Given the description of an element on the screen output the (x, y) to click on. 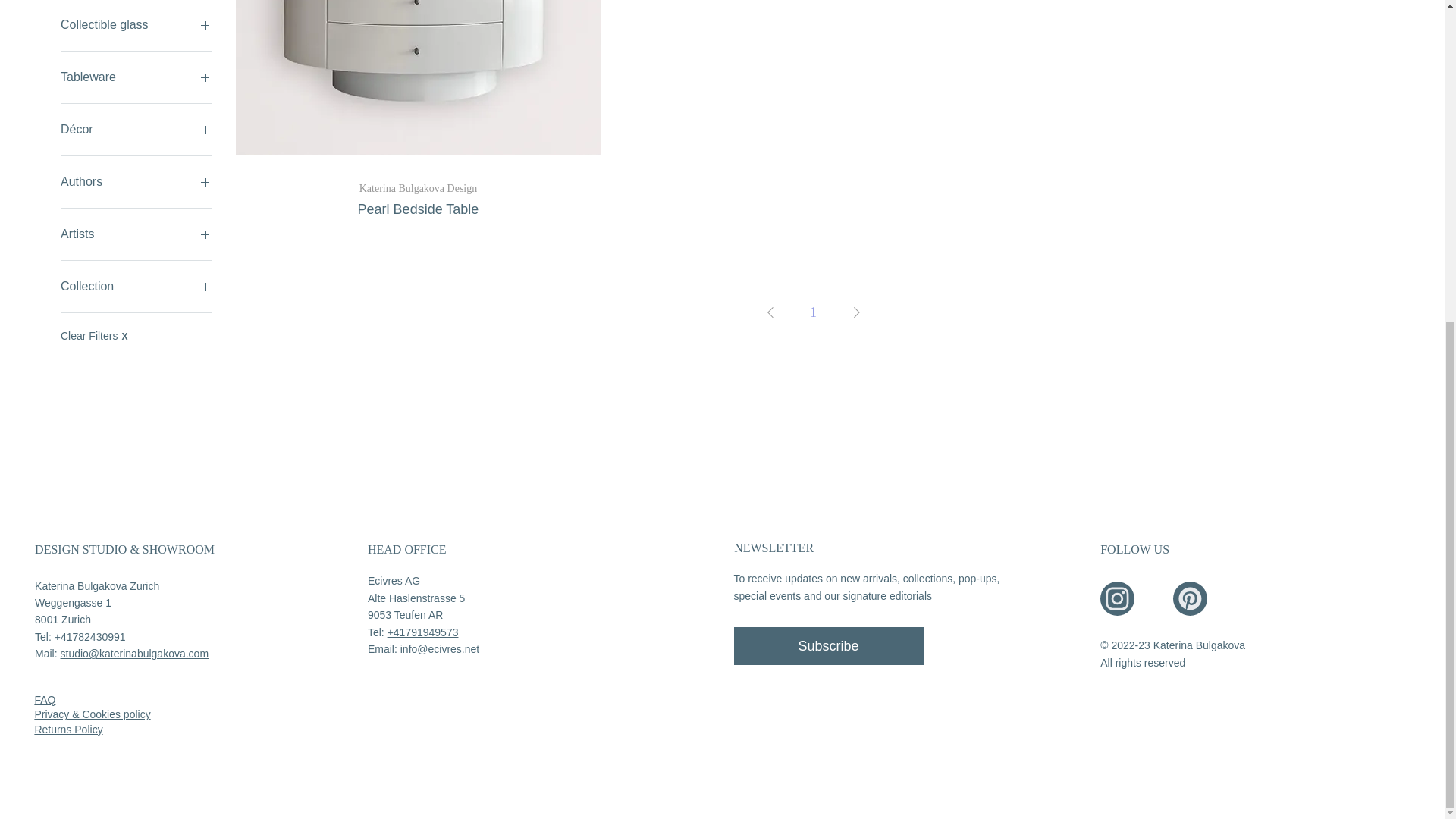
FAQ (44, 699)
Authors (136, 181)
Artists (136, 233)
Returns Policy (67, 729)
Collection (136, 286)
Tableware (136, 76)
Subscribe (828, 646)
Collectible glass (136, 25)
Clear FiltersX (418, 199)
